Given the description of an element on the screen output the (x, y) to click on. 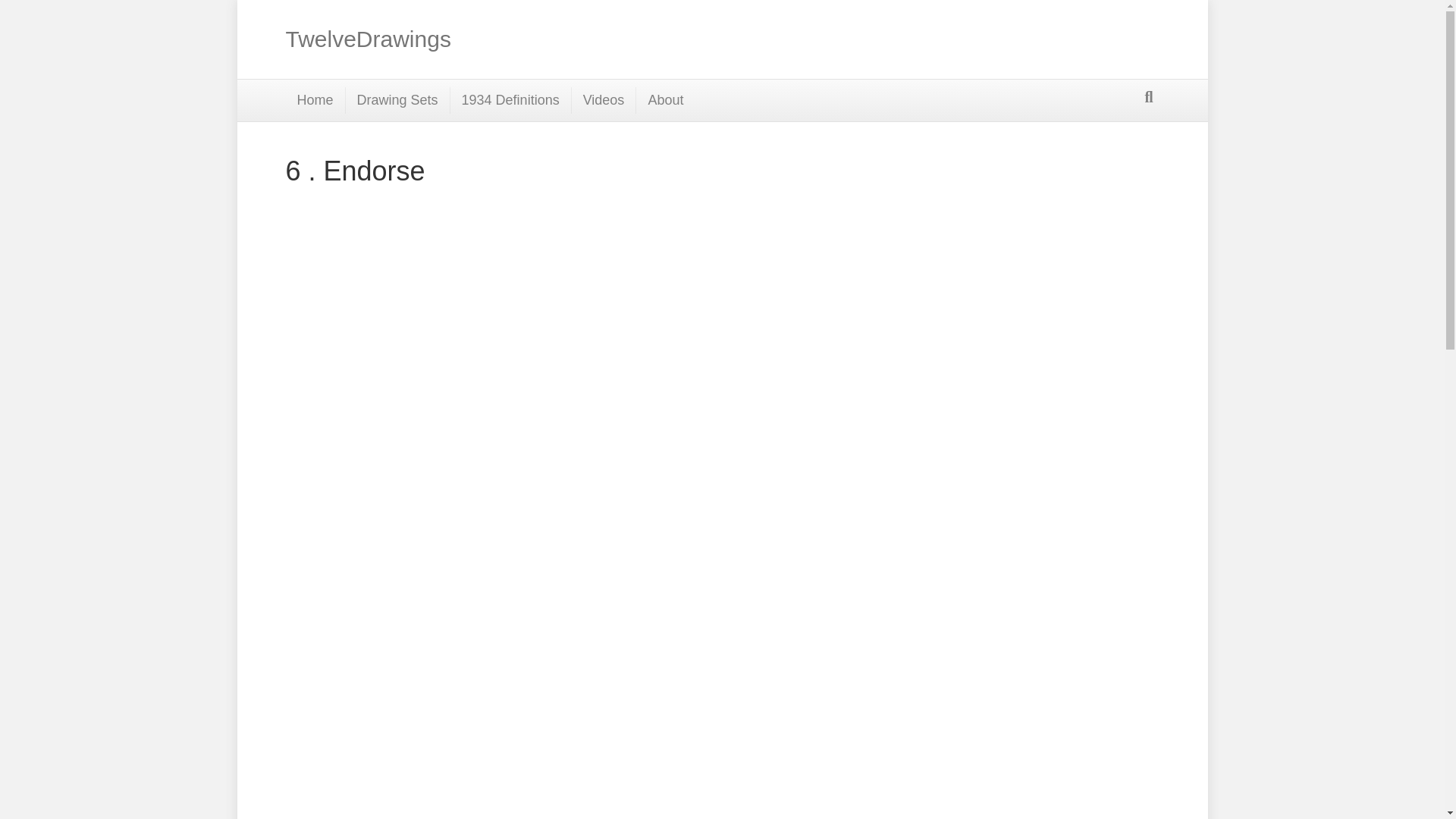
TwelveDrawings (491, 39)
About (665, 99)
Home (315, 99)
Drawing Sets (397, 99)
Videos (604, 99)
1934 Definitions (510, 99)
